Given the description of an element on the screen output the (x, y) to click on. 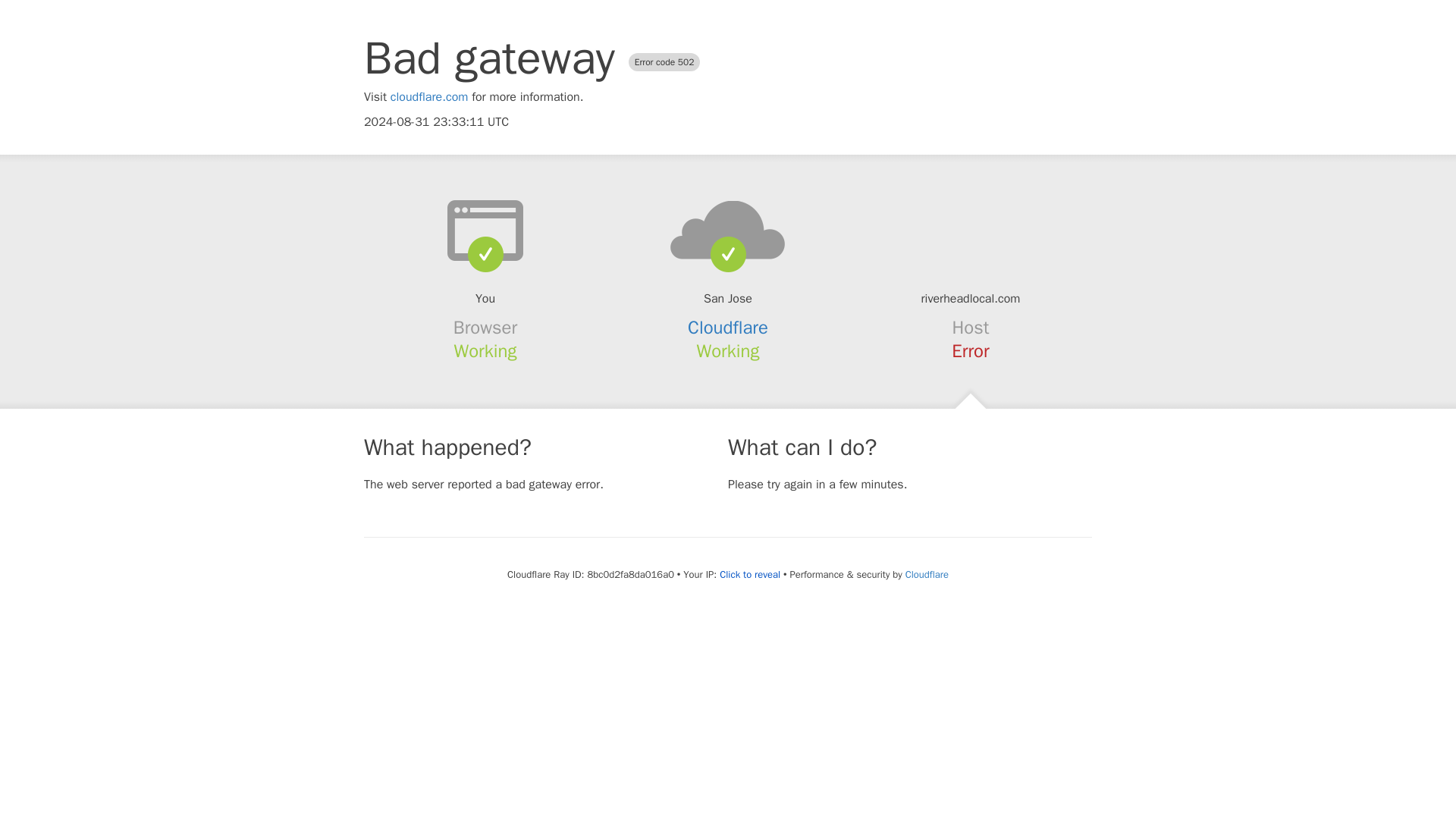
Cloudflare (927, 574)
Click to reveal (749, 574)
Cloudflare (727, 327)
cloudflare.com (429, 96)
